Given the description of an element on the screen output the (x, y) to click on. 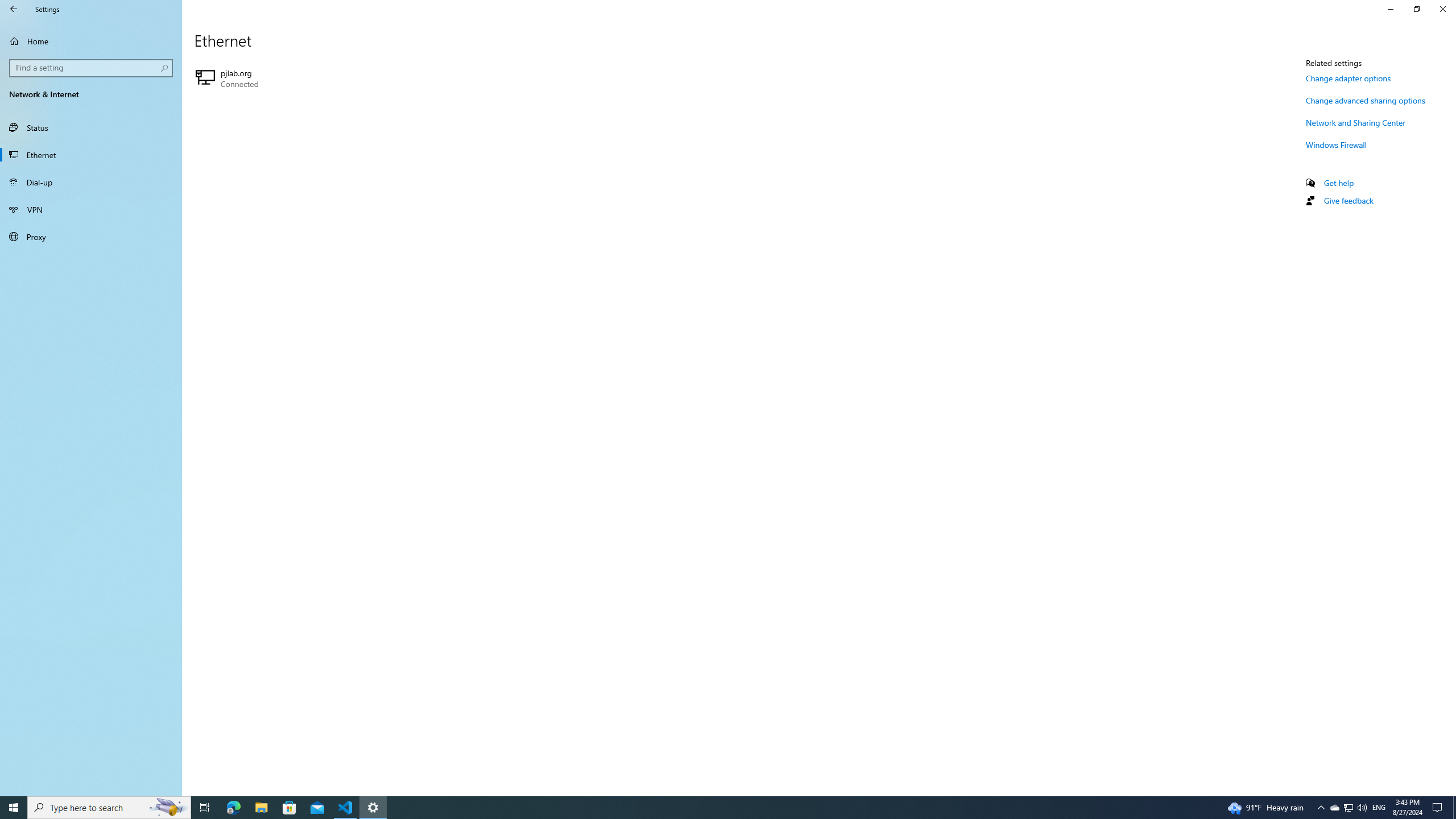
Search box, Find a setting (91, 67)
Change adapter options (1348, 77)
Get help (1338, 182)
Network and Sharing Center (1356, 122)
Task View (204, 807)
Q2790: 100% (1361, 807)
pjlab.org (319, 78)
Back (13, 9)
Proxy (91, 236)
Settings - 1 running window (373, 807)
